Given the description of an element on the screen output the (x, y) to click on. 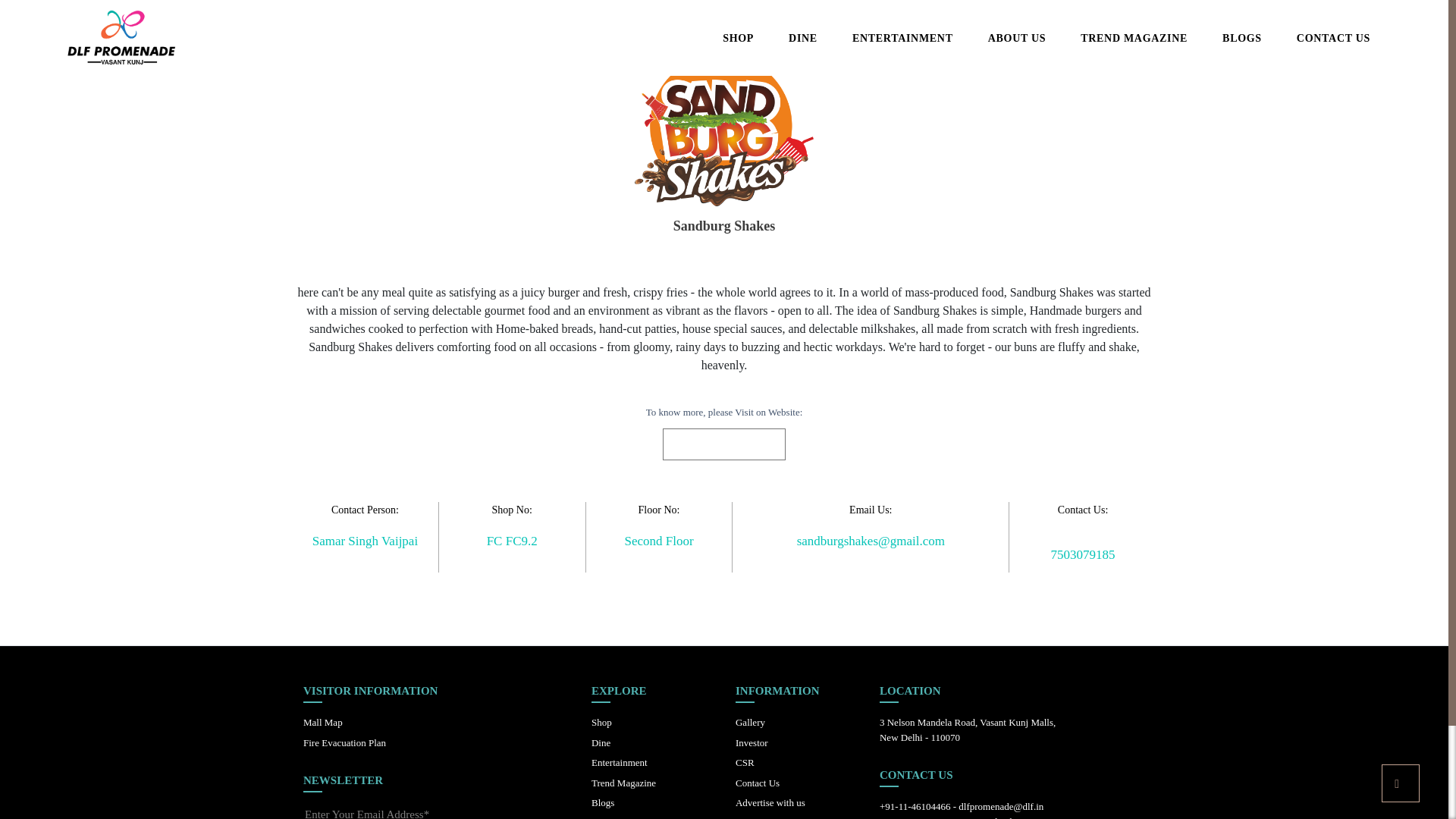
Trend Magazine (623, 782)
Entertainment (619, 762)
SHOP (738, 38)
Contact Us (756, 782)
DLF (98, 37)
Dine (600, 742)
Shop (601, 722)
Investor (751, 742)
Fire Evacuation Plan (343, 742)
Gallery (750, 722)
